Given the description of an element on the screen output the (x, y) to click on. 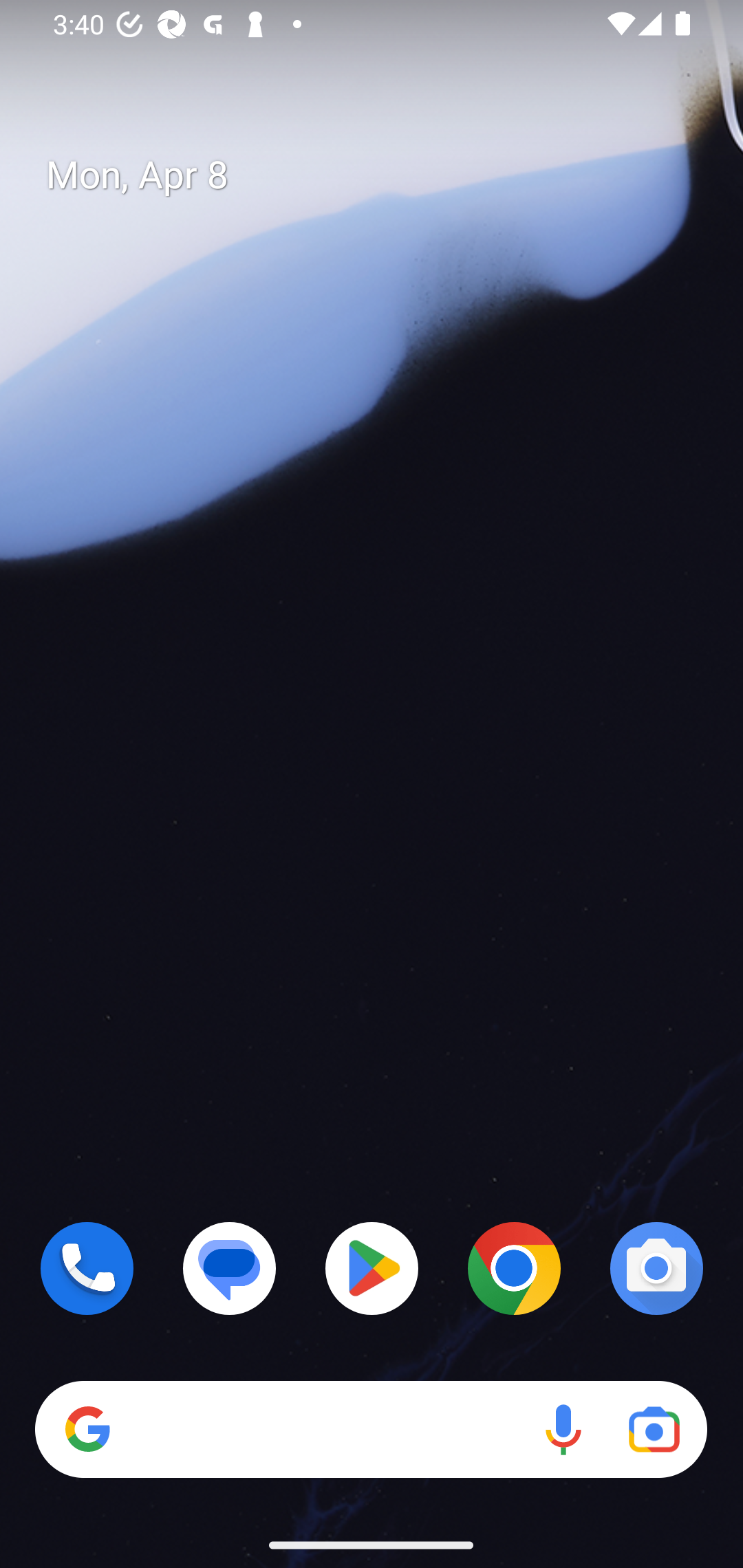
Mon, Apr 8 (386, 175)
Phone (86, 1268)
Messages (229, 1268)
Play Store (371, 1268)
Chrome (513, 1268)
Camera (656, 1268)
Search Voice search Google Lens (370, 1429)
Voice search (562, 1429)
Google Lens (653, 1429)
